Given the description of an element on the screen output the (x, y) to click on. 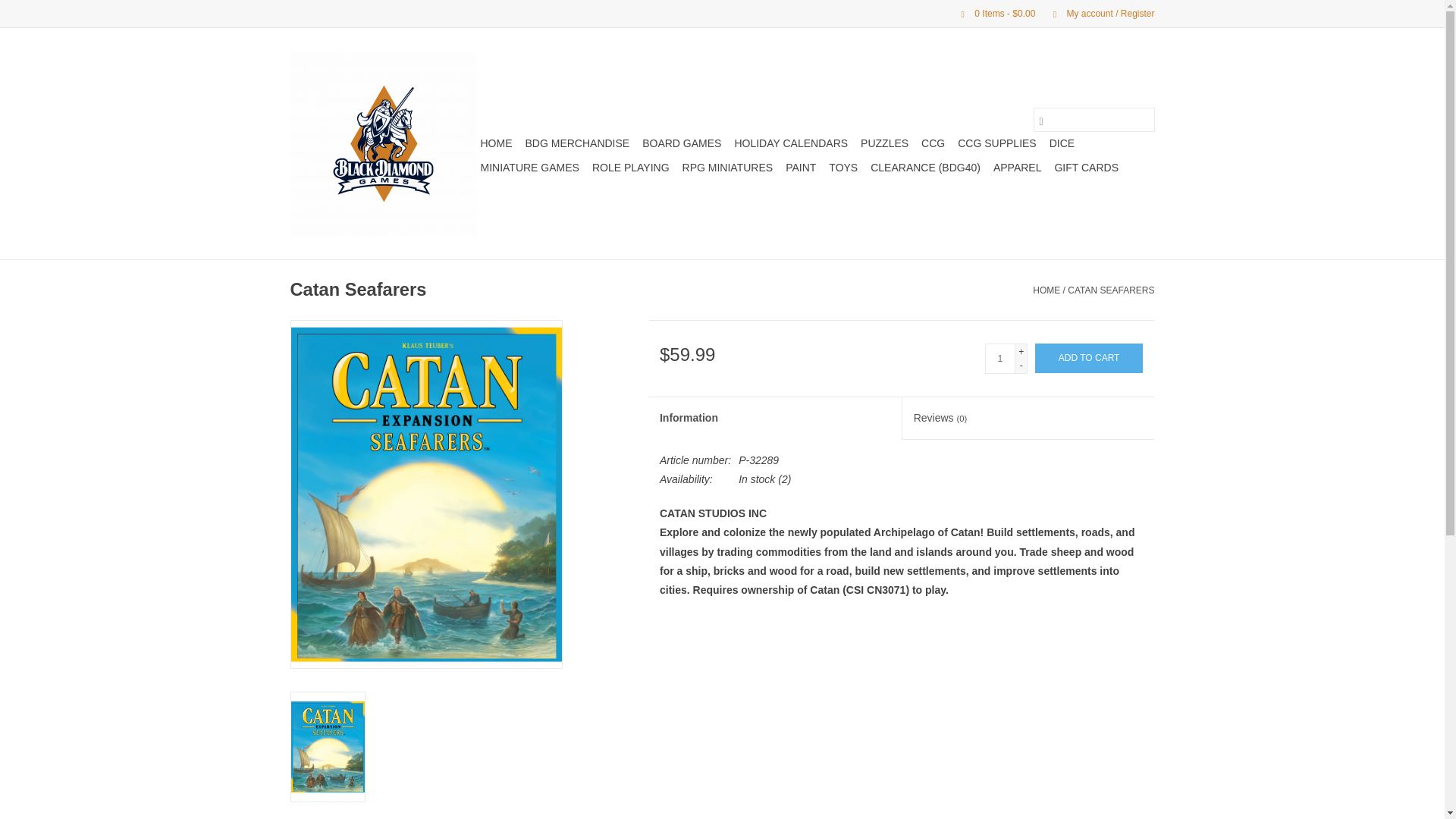
Cart (992, 13)
BOARD GAMES (681, 143)
BDG Merchandise (576, 143)
1 (999, 358)
Board Games (681, 143)
Black Diamond Games (382, 143)
PUZZLES (884, 143)
CCG (933, 143)
My account (1096, 13)
BDG MERCHANDISE (576, 143)
HOLIDAY CALENDARS (790, 143)
HOME (496, 143)
